Given the description of an element on the screen output the (x, y) to click on. 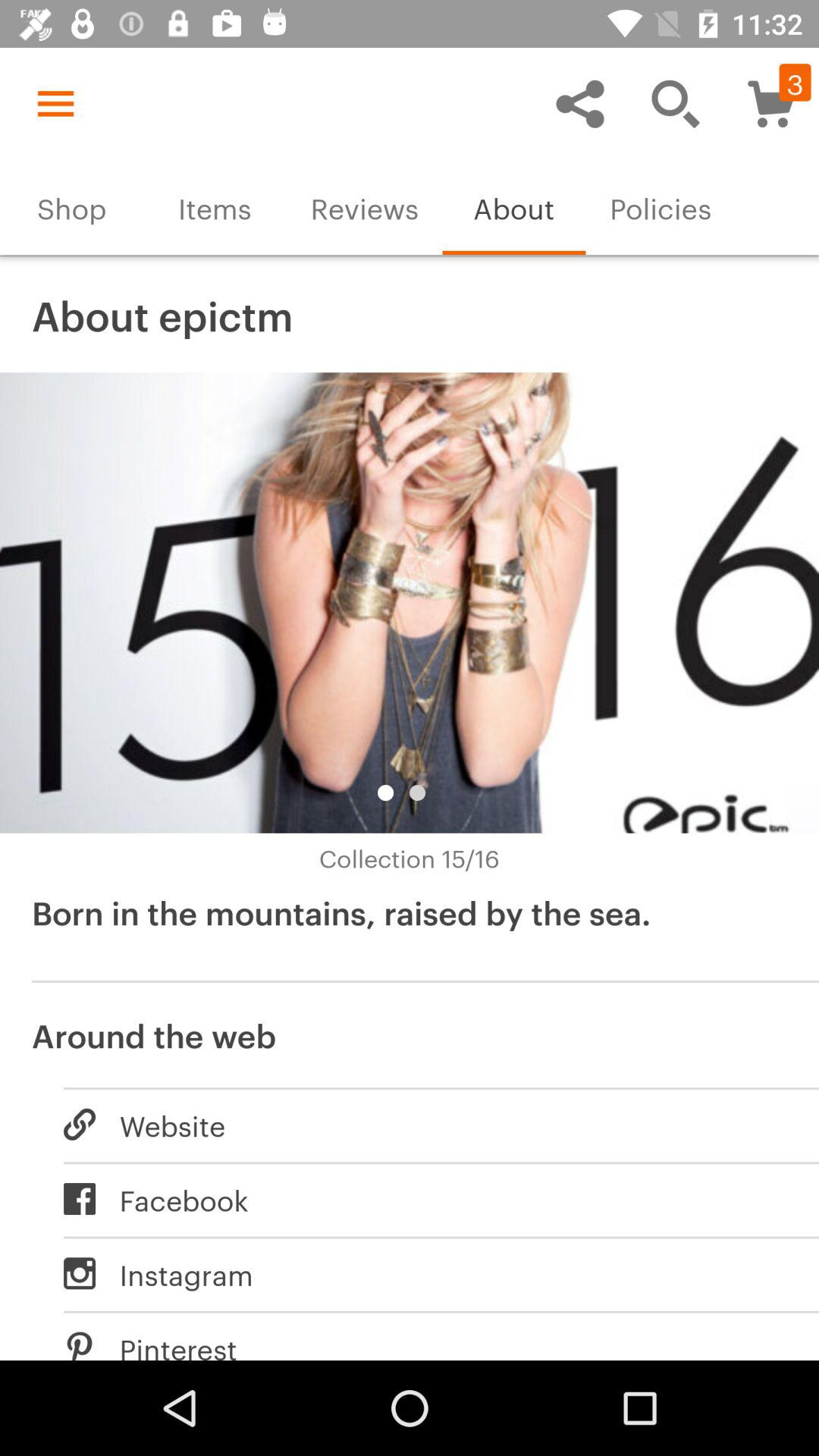
choose icon below facebook (425, 1273)
